Given the description of an element on the screen output the (x, y) to click on. 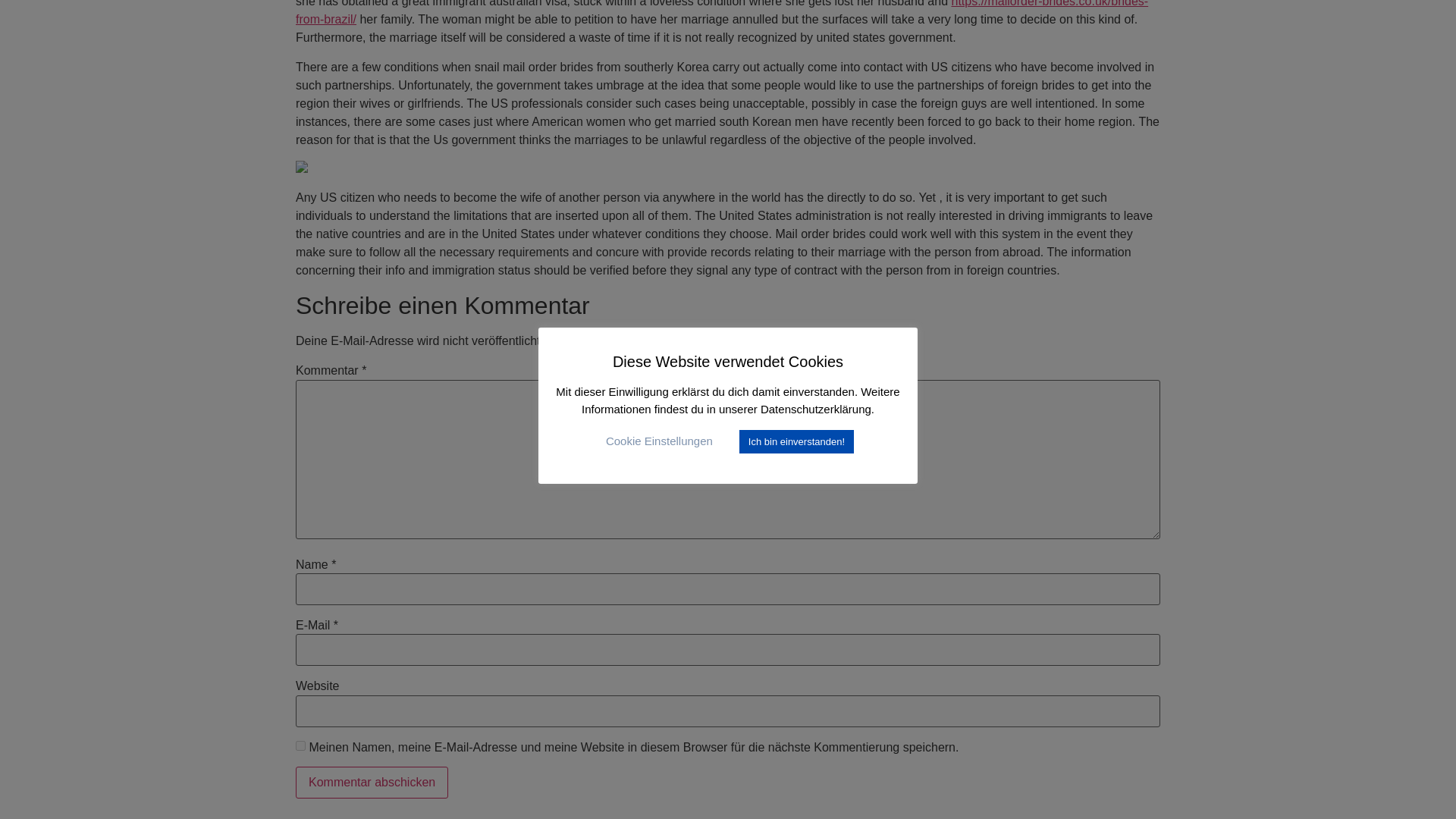
Kommentar abschicken (371, 782)
